Given the description of an element on the screen output the (x, y) to click on. 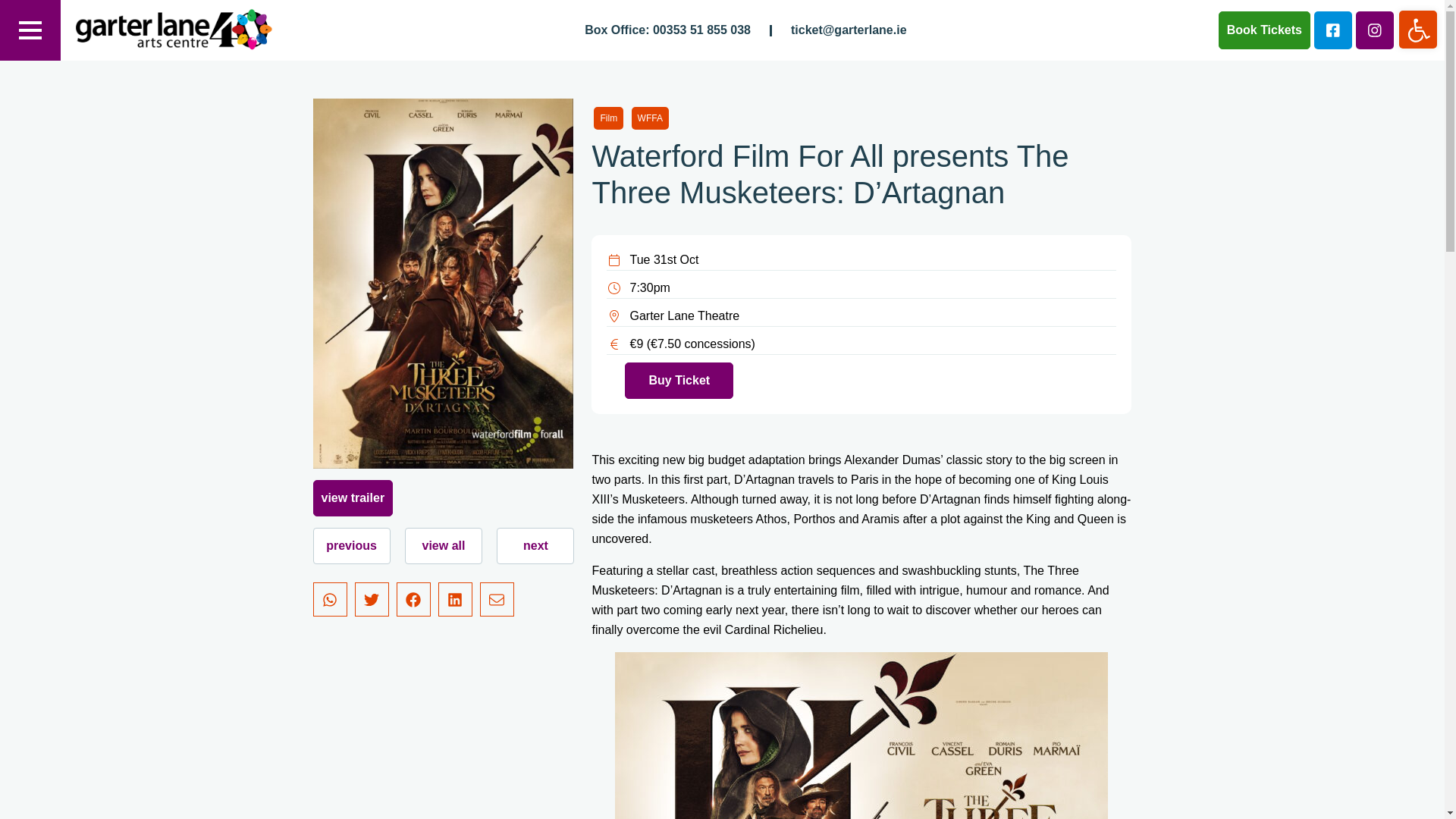
Accessibility Tools (1418, 30)
view all (442, 545)
view trailer (353, 497)
Accessibility Tools (1418, 29)
previous (1418, 29)
